Given the description of an element on the screen output the (x, y) to click on. 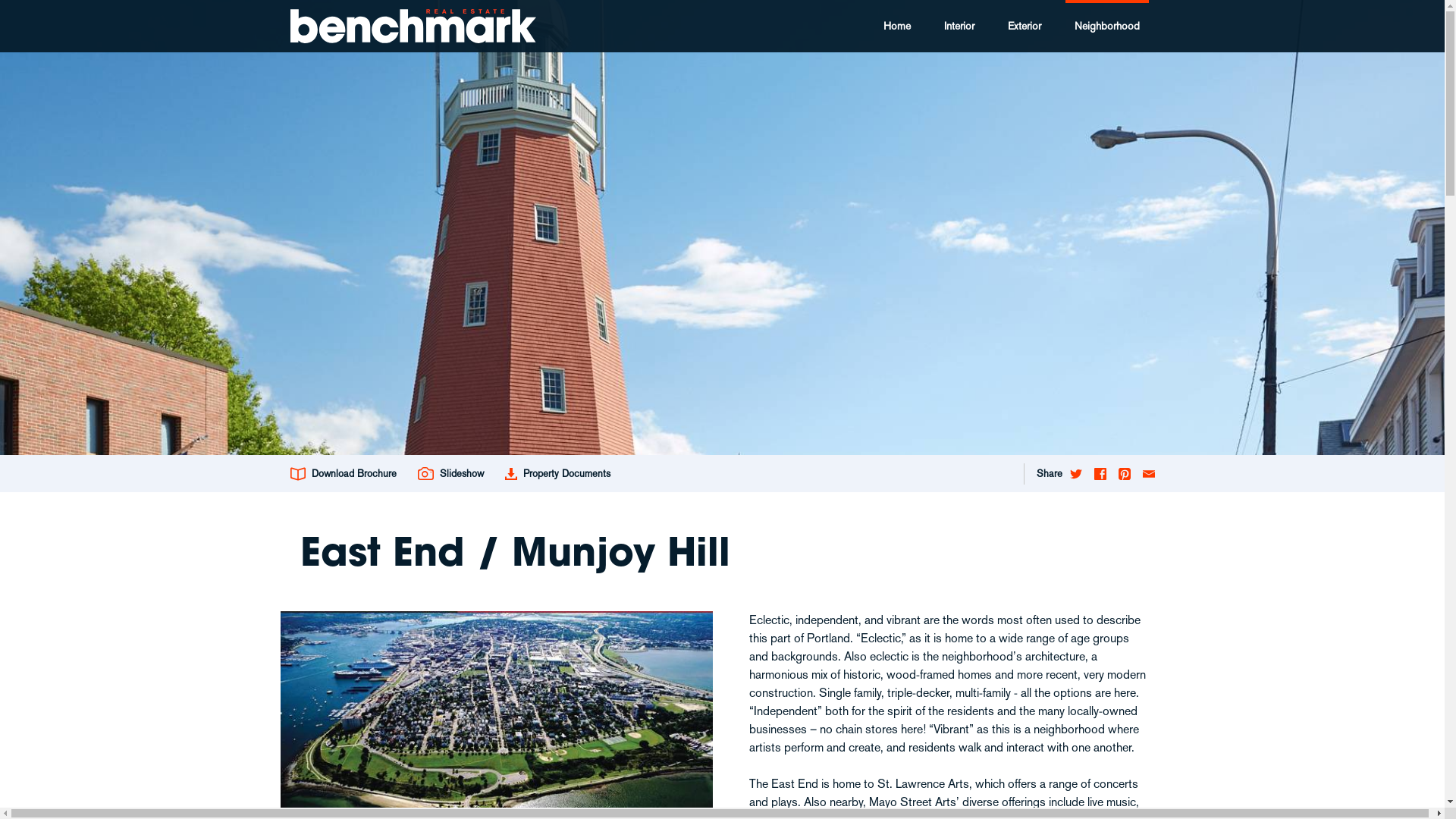
Twitter Element type: text (1074, 472)
Interior Element type: text (958, 26)
Exterior Element type: text (1023, 26)
Email Element type: text (1145, 472)
Home Element type: text (896, 26)
Slideshow Element type: text (449, 473)
Property Documents Element type: text (557, 473)
Pinterest Element type: text (1123, 472)
Neighborhood Element type: text (1106, 26)
Facebook Element type: text (1099, 472)
Download Brochure Element type: text (346, 473)
